Given the description of an element on the screen output the (x, y) to click on. 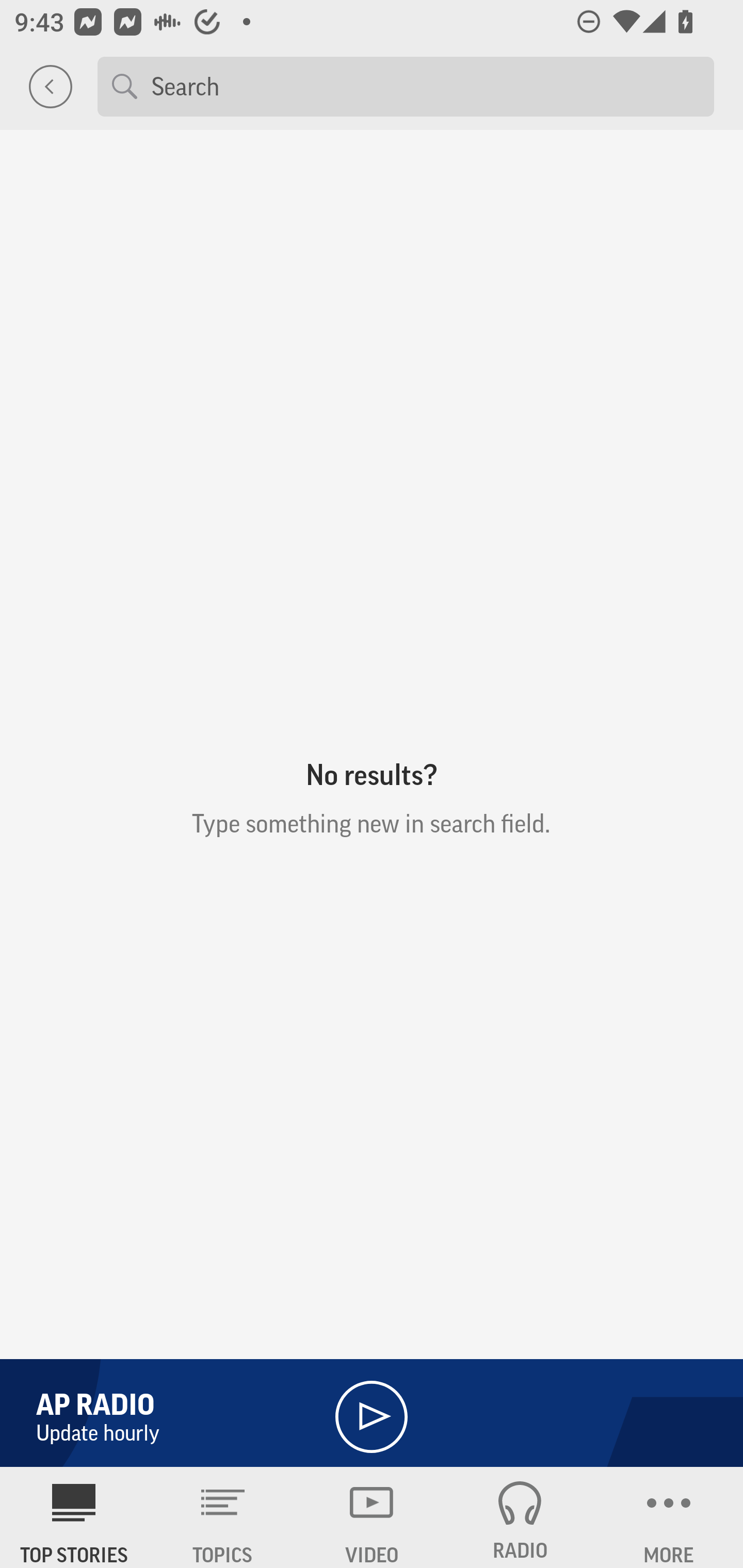
Search (425, 86)
AP RADIO Update hourly (371, 1409)
AP News TOP STORIES (74, 1517)
TOPICS (222, 1517)
VIDEO (371, 1517)
RADIO (519, 1517)
MORE (668, 1517)
